Given the description of an element on the screen output the (x, y) to click on. 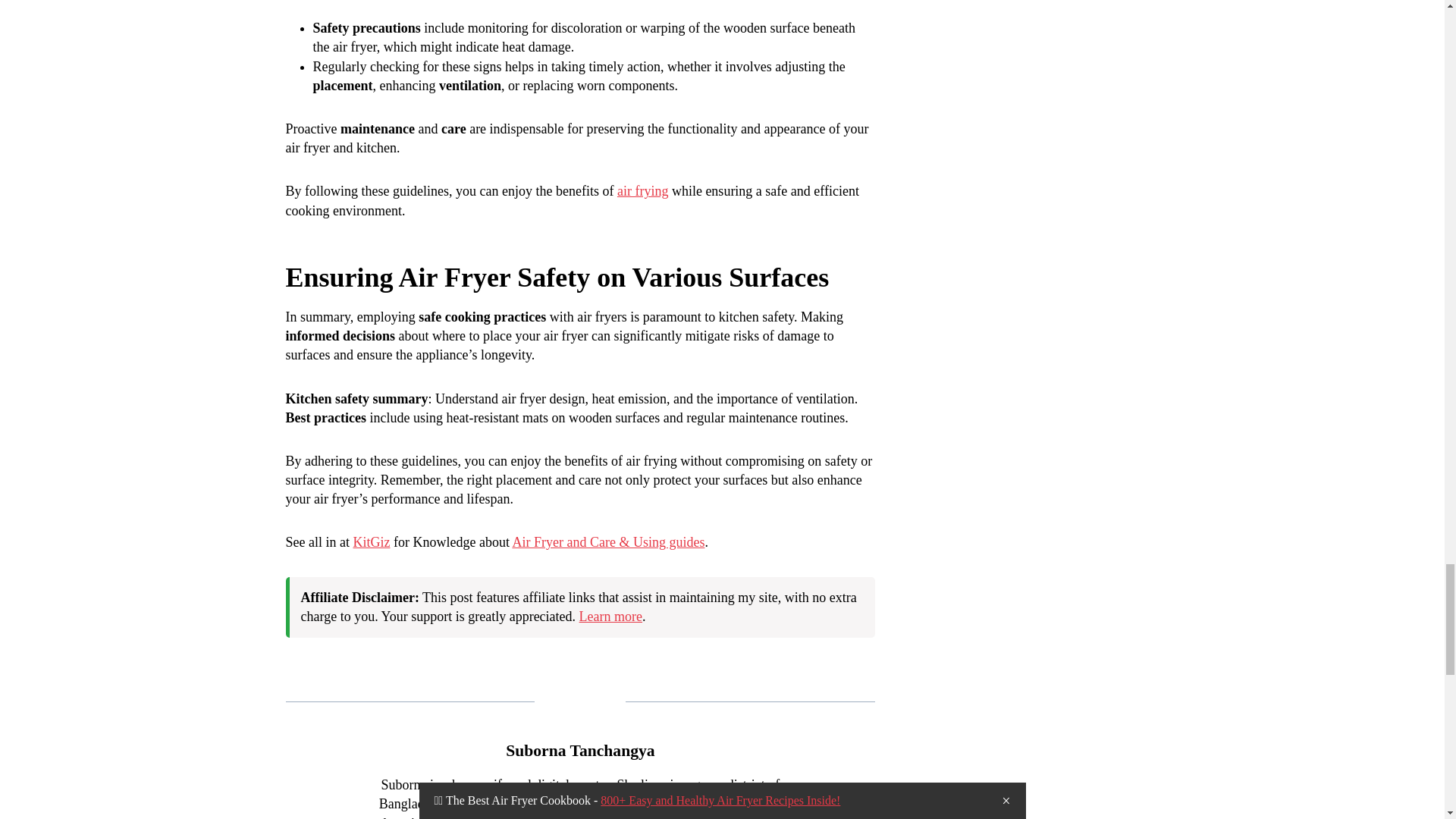
air frying (642, 191)
KitGiz (371, 541)
Suborna Tanchangya (579, 751)
Learn more (610, 616)
